Given the description of an element on the screen output the (x, y) to click on. 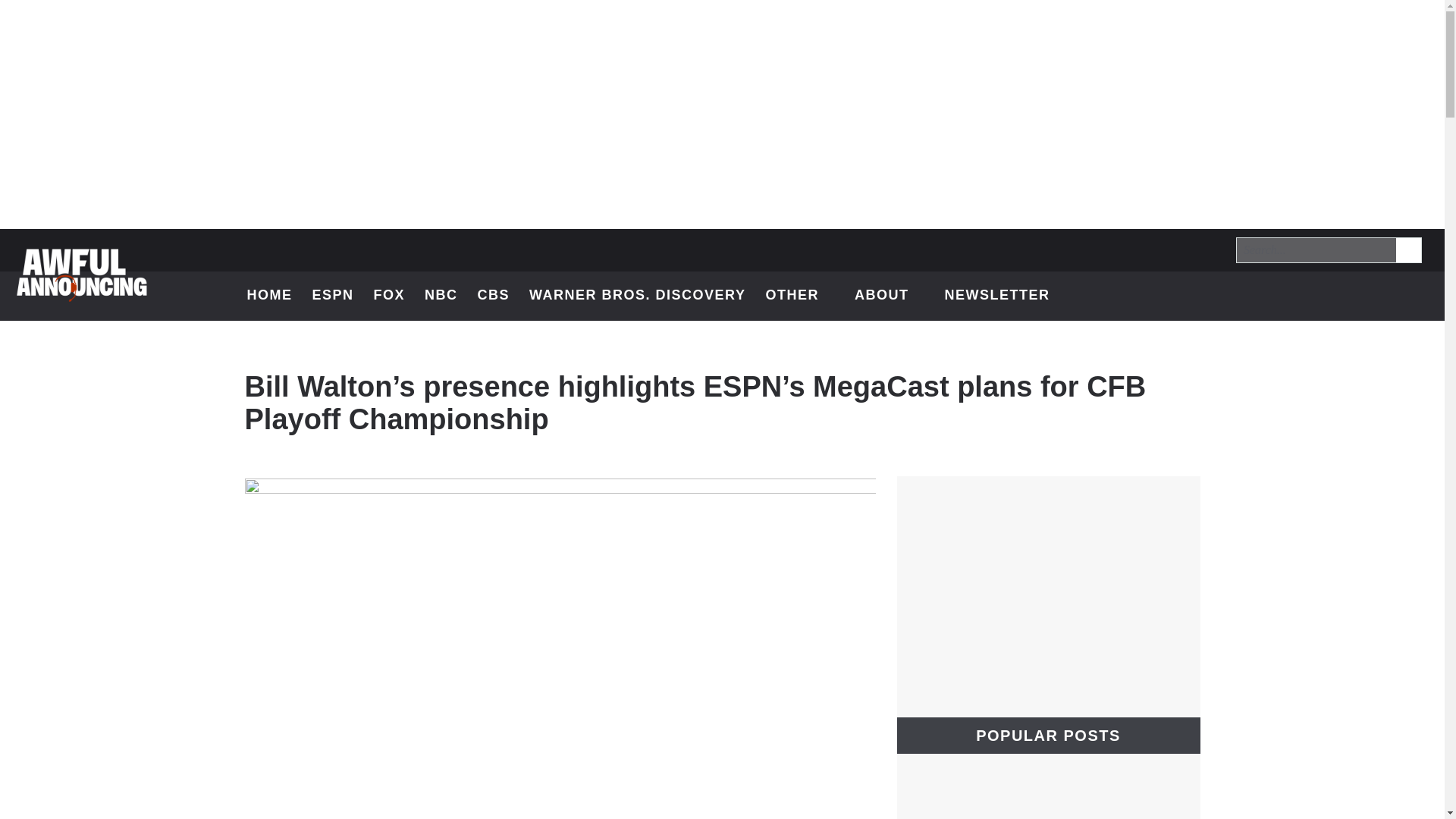
OTHER (799, 296)
NBC (441, 296)
ABOUT (889, 296)
FOX (390, 296)
ESPN (332, 296)
HOME (269, 296)
Link to Instagram (1375, 296)
SEARCH (1409, 249)
Link to Facebook (1407, 249)
